Given the description of an element on the screen output the (x, y) to click on. 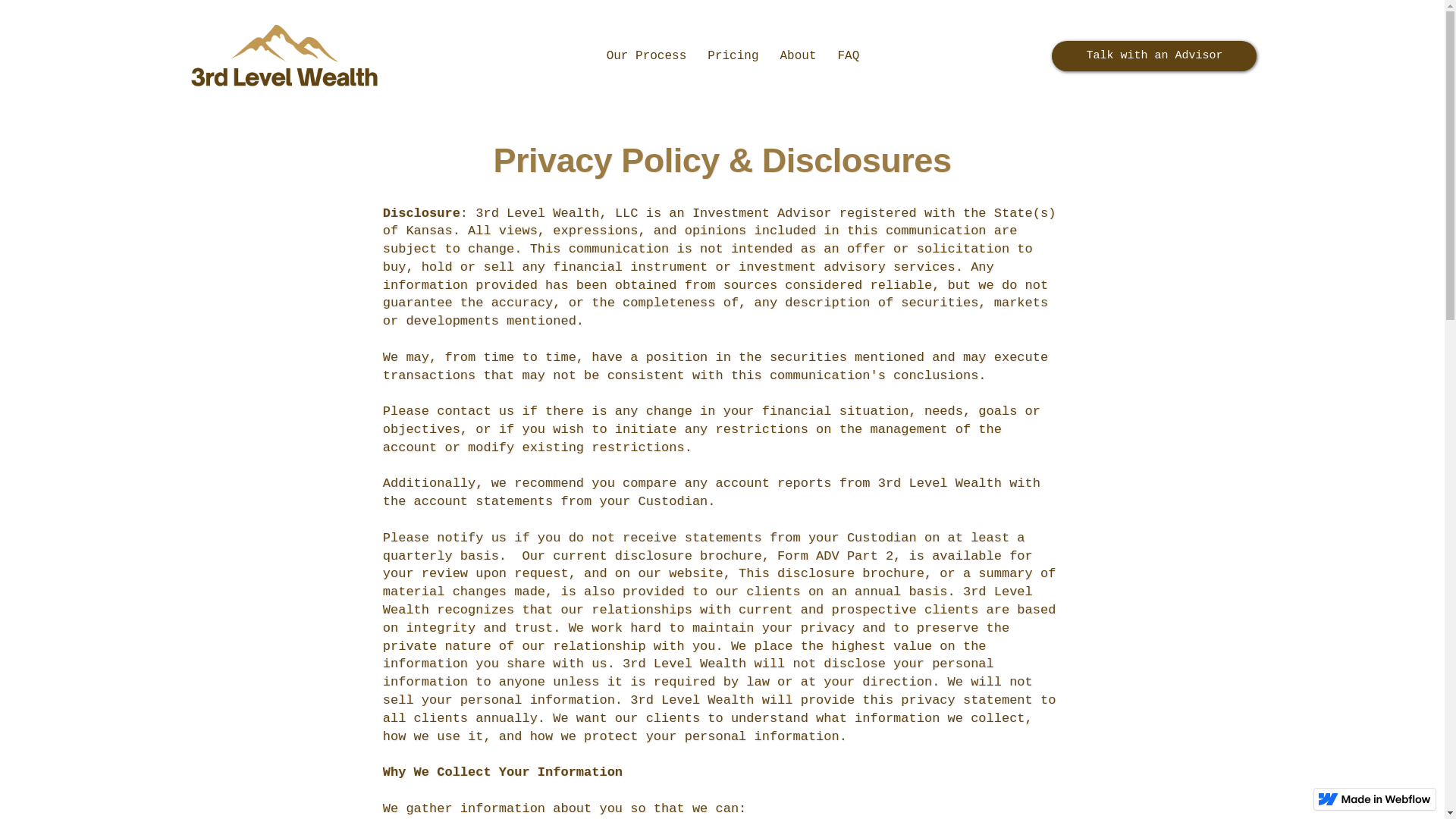
Our Process Element type: text (646, 55)
Talk with an Advisor Element type: text (1153, 55)
Pricing Element type: text (732, 55)
About Element type: text (797, 55)
FAQ Element type: text (848, 55)
